Given the description of an element on the screen output the (x, y) to click on. 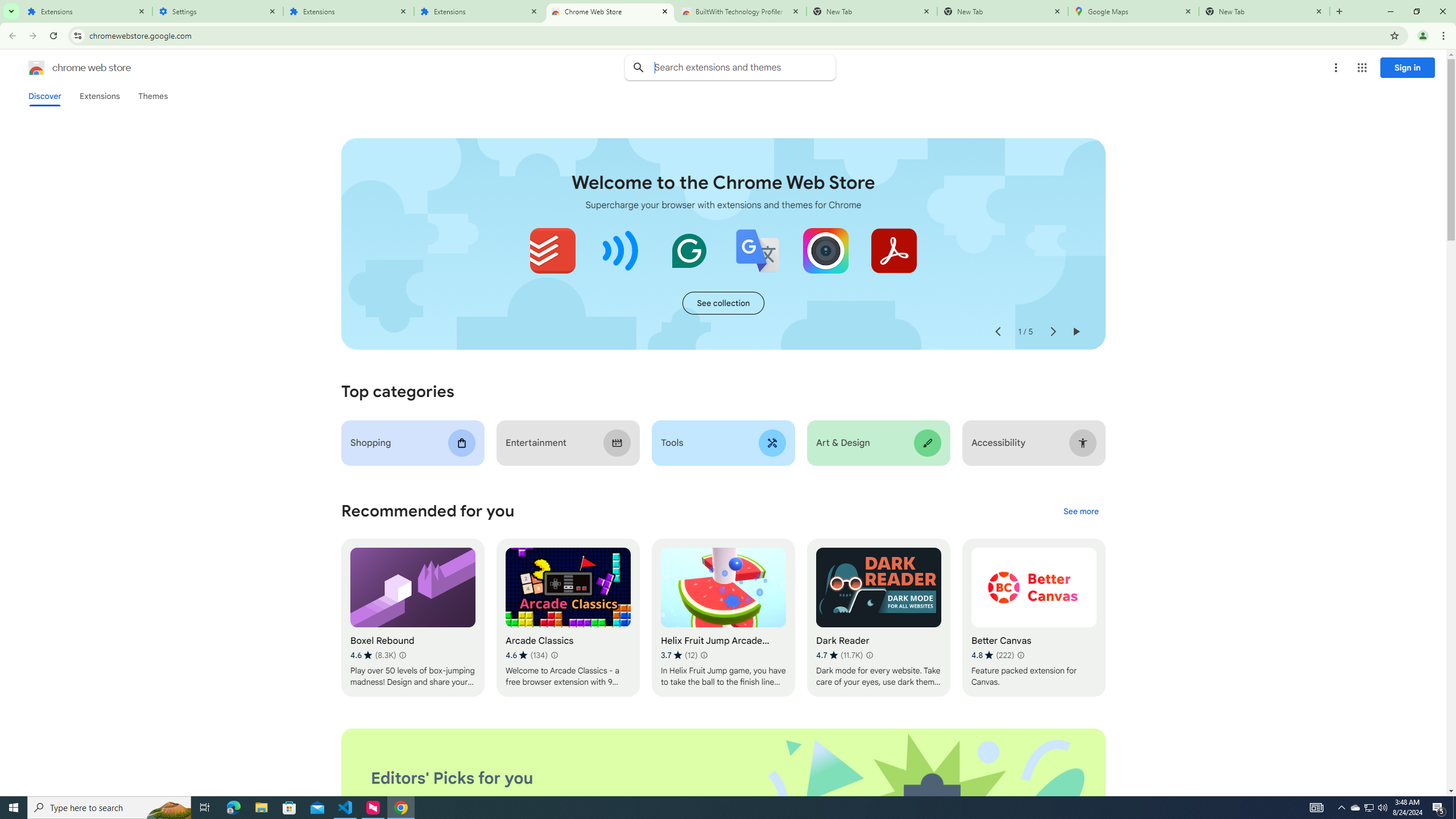
More options menu (1335, 67)
Helix Fruit Jump Arcade Game (722, 617)
Learn more about results and reviews "Better Canvas" (1019, 655)
Chrome Web Store (610, 11)
Google Maps (1133, 11)
Themes (152, 95)
Average rating 4.8 out of 5 stars. 222 ratings. (992, 655)
Tools (722, 443)
Todoist for Chrome (552, 250)
Google Translate (757, 250)
